Given the description of an element on the screen output the (x, y) to click on. 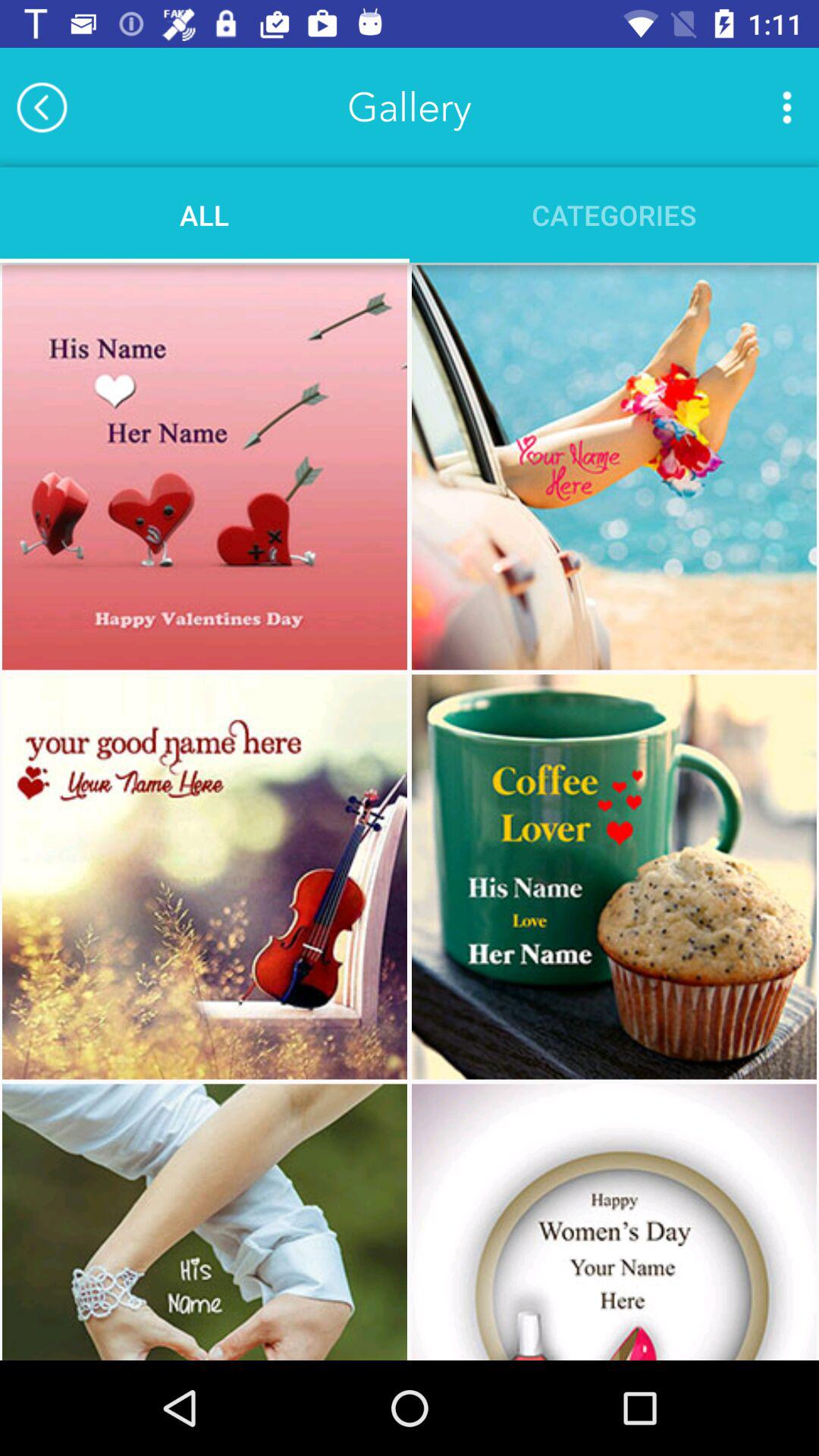
open icon to the right of the gallery app (787, 107)
